Given the description of an element on the screen output the (x, y) to click on. 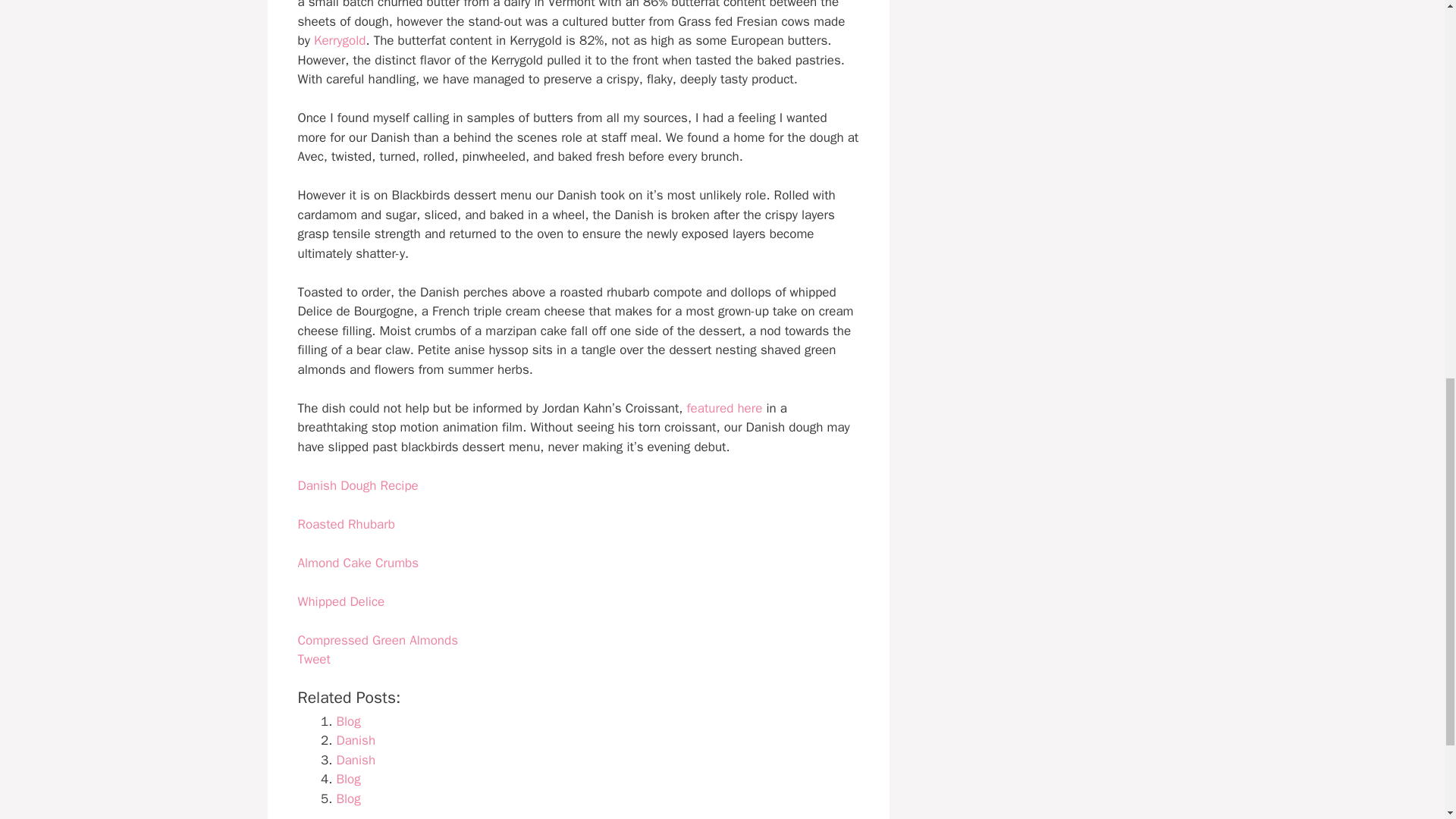
Kerrygold (340, 40)
Blog (348, 721)
Whipped Delice (340, 601)
Danish Dough Recipe (357, 485)
Blog (348, 798)
Almond Cake Crumbs (358, 562)
Danish (355, 760)
Compressed Green Almonds (377, 640)
Danish (355, 760)
Blog (348, 798)
Blog (348, 779)
featured here (724, 408)
Danish (355, 740)
Tweet (313, 659)
Danish (355, 740)
